Given the description of an element on the screen output the (x, y) to click on. 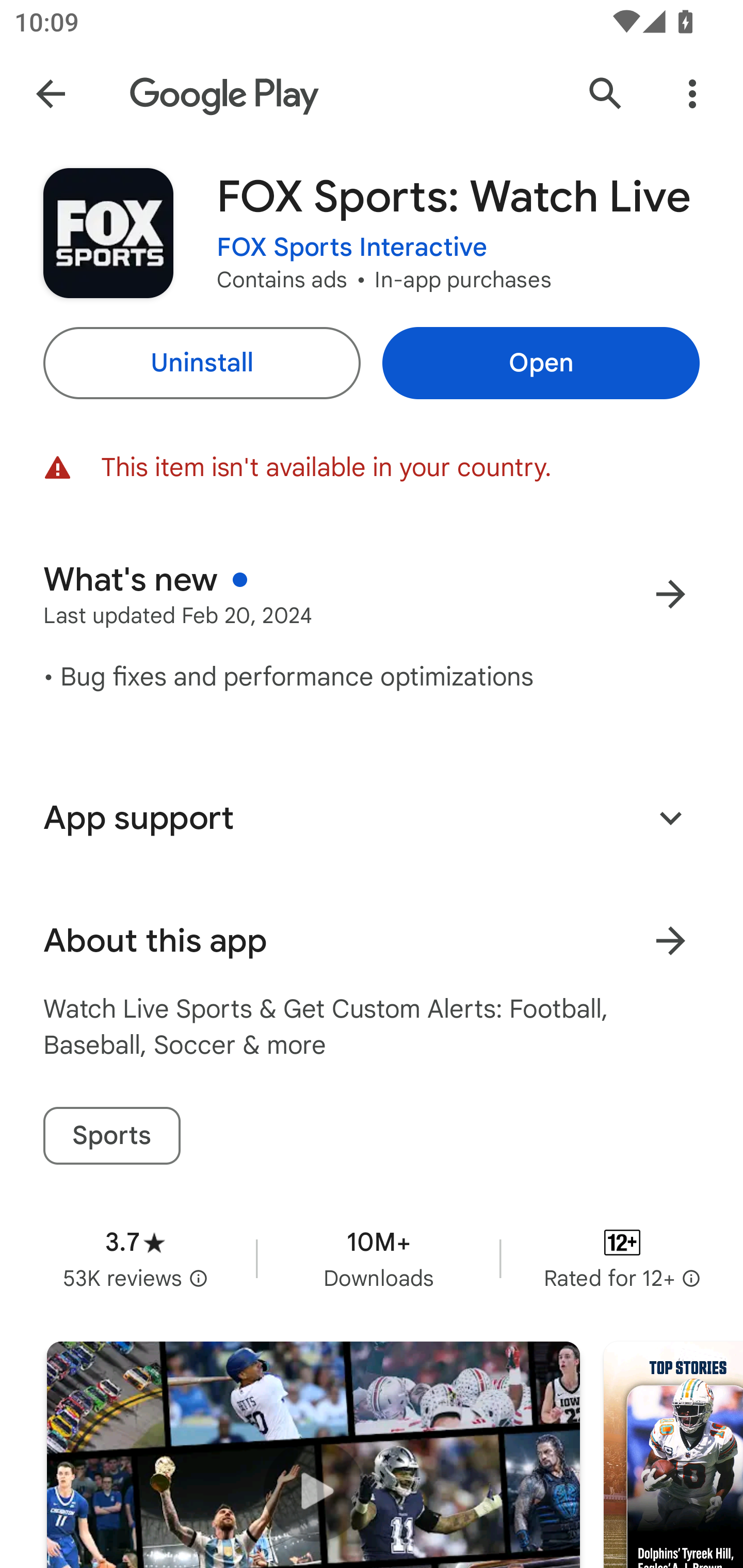
Navigate up (50, 93)
Search Google Play (605, 93)
More Options (692, 93)
FOX Sports Interactive (351, 247)
Uninstall (201, 362)
Open (540, 362)
More results for What's new (670, 594)
App support Expand (371, 817)
Expand (670, 817)
About this app Learn more About this app (371, 940)
Learn more About this app (670, 940)
Sports tag (111, 1135)
Average rating 3.7 stars in 53 thousand reviews (135, 1258)
Content rating Rated for 12+ (622, 1258)
Play trailer for "FOX Sports: Watch Live" (313, 1455)
